Given the description of an element on the screen output the (x, y) to click on. 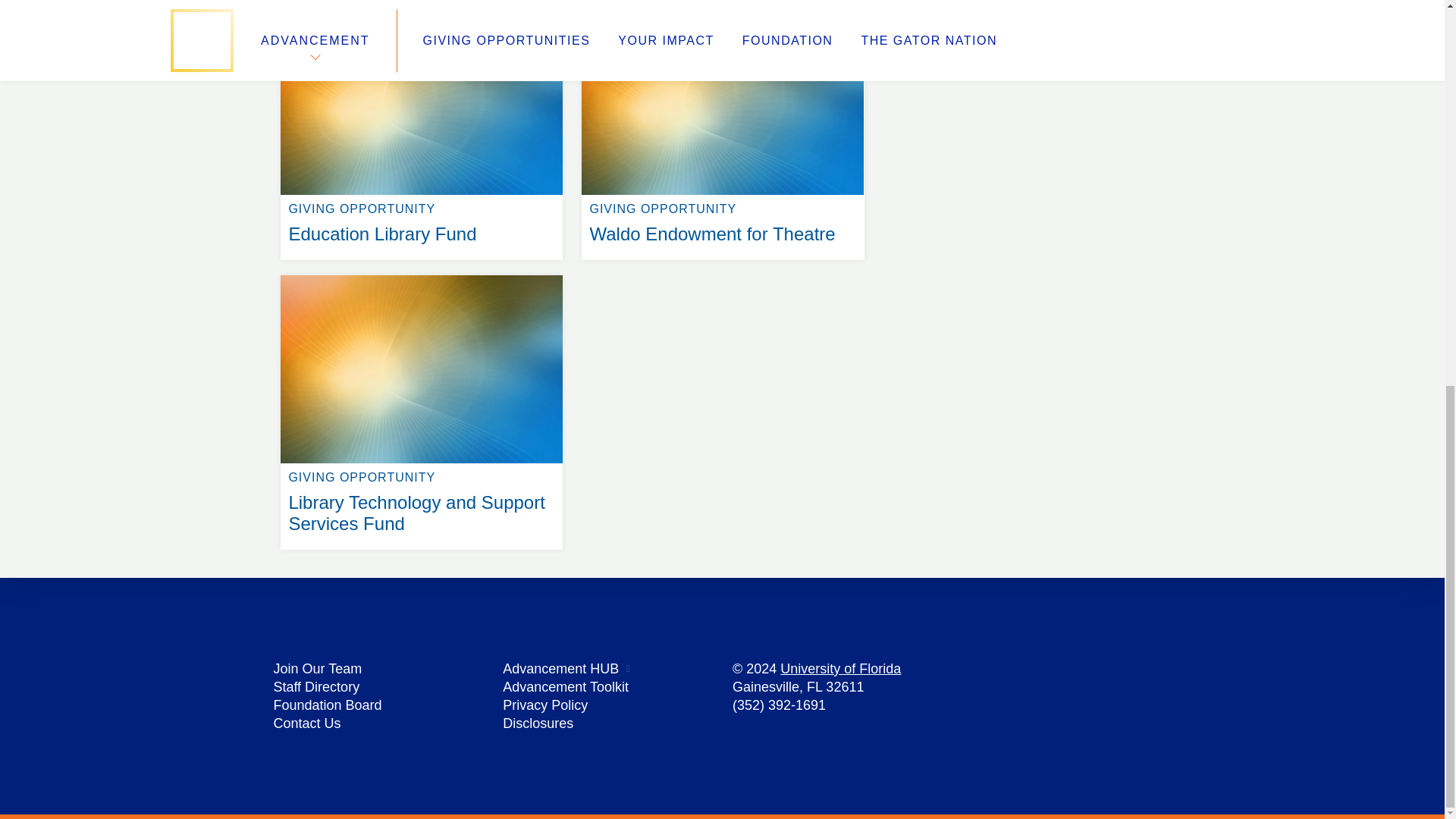
Join Our Team (317, 668)
Disclosures (537, 723)
Foundation Board (327, 704)
Contact Us (306, 723)
Staff Directory (421, 7)
University of Florida (316, 686)
Advancement HUB (840, 668)
Privacy Policy (560, 668)
